Given the description of an element on the screen output the (x, y) to click on. 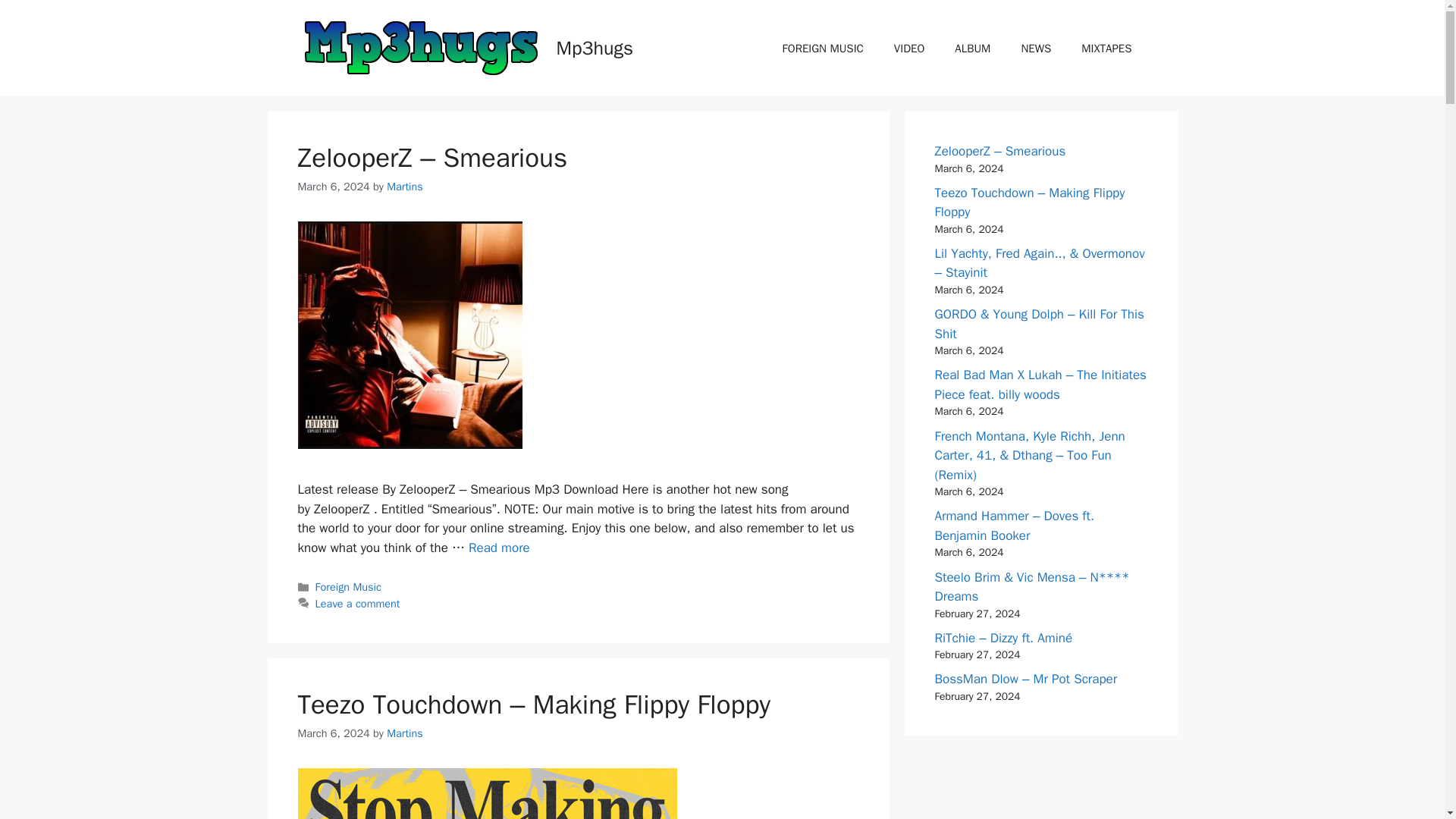
ALBUM (972, 48)
Martins (405, 733)
View all posts by Martins (405, 186)
Foreign Music (348, 586)
View all posts by Martins (405, 733)
VIDEO (909, 48)
FOREIGN MUSIC (823, 48)
Leave a comment (357, 603)
MIXTAPES (1106, 48)
NEWS (1035, 48)
Martins (405, 186)
Read more (498, 547)
Mp3hugs (594, 47)
